Given the description of an element on the screen output the (x, y) to click on. 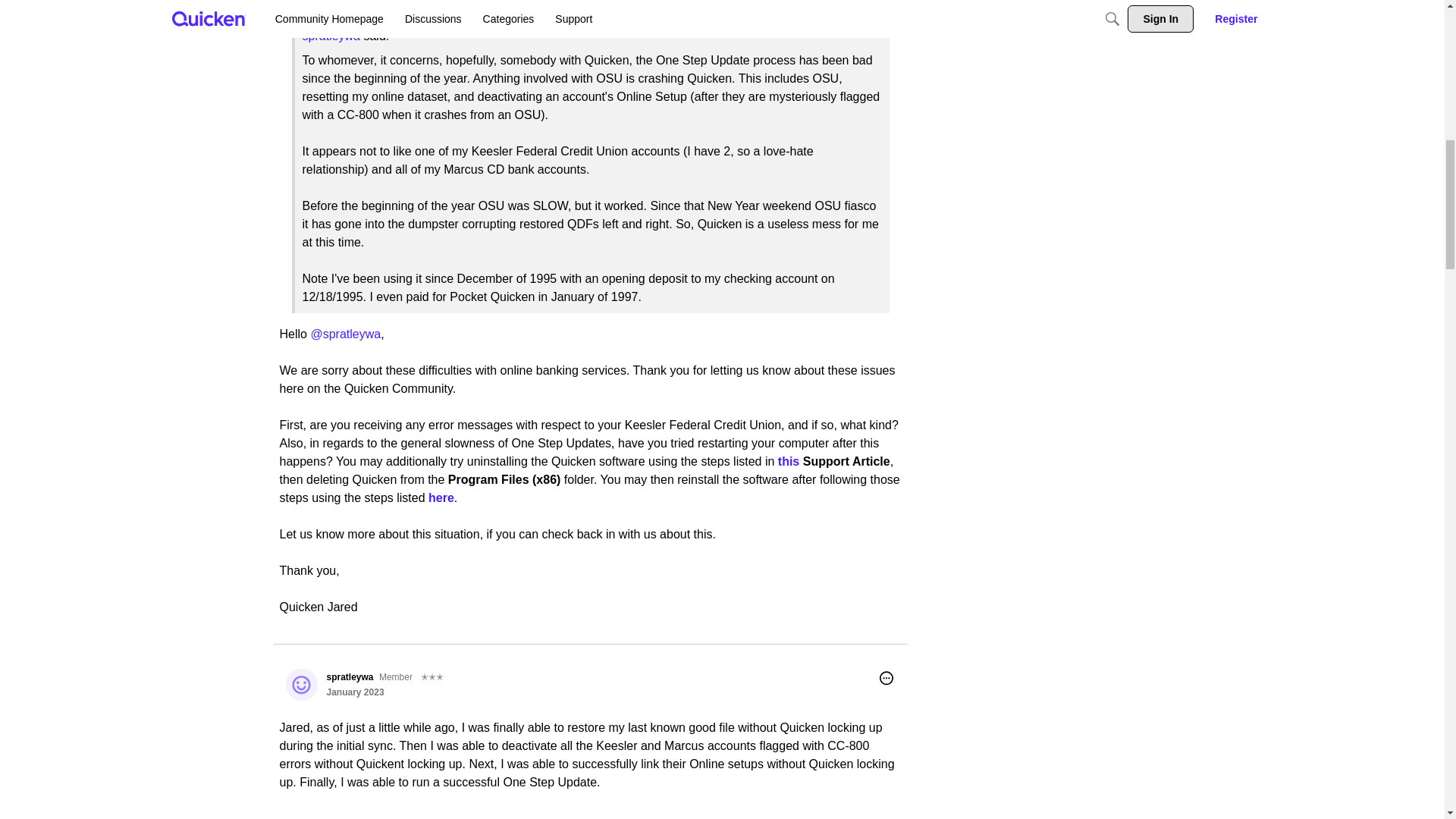
this (788, 461)
spratleywa (349, 676)
Quicken Jared (301, 1)
January 25, 2023 11:46AM (355, 692)
spratleywa (301, 685)
here (441, 497)
spratleywa (330, 35)
Contributor (432, 676)
January 2023 (355, 692)
